Given the description of an element on the screen output the (x, y) to click on. 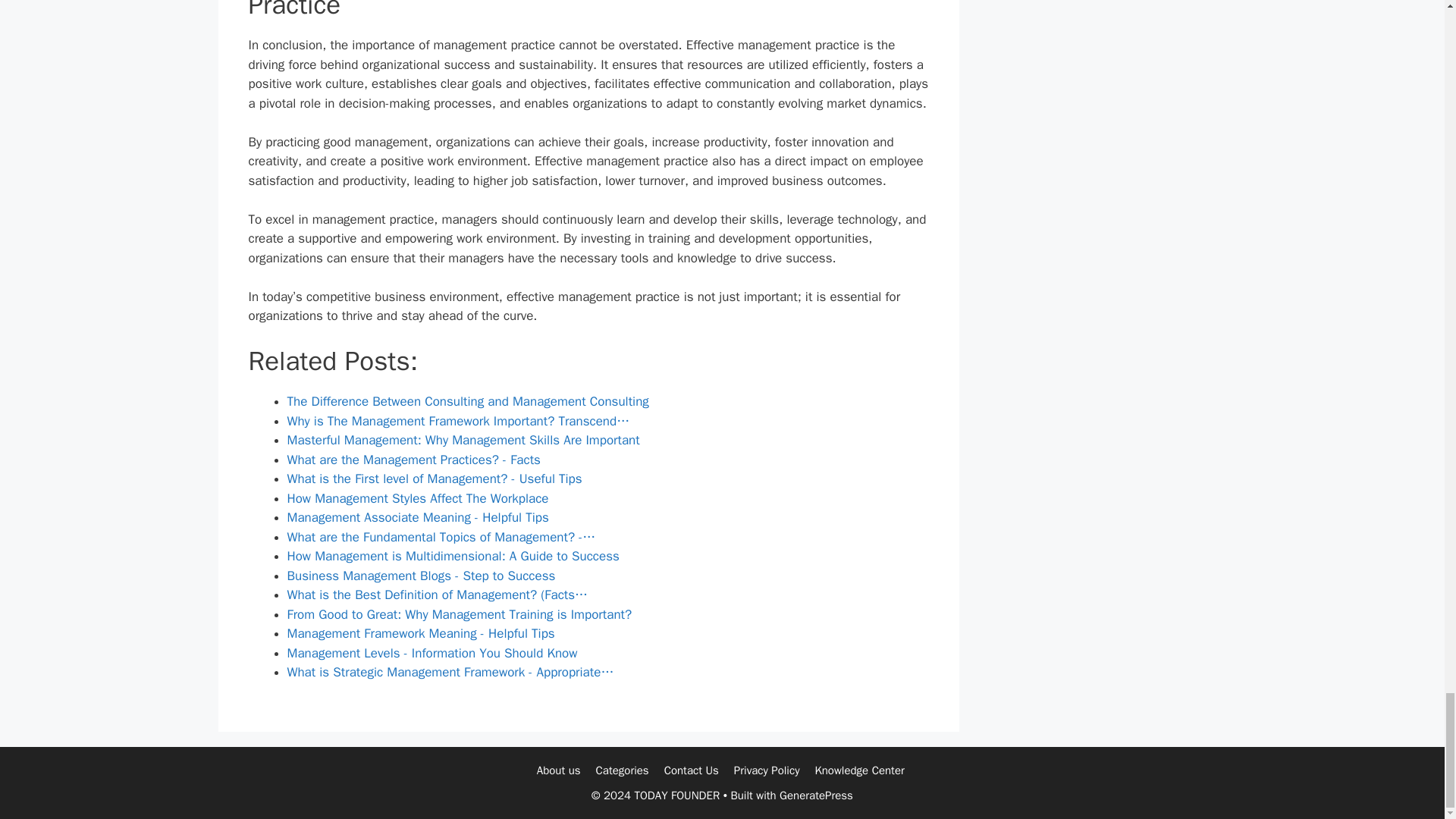
What are the Management Practices? - Facts (413, 459)
Business Management Blogs - Step to Success (420, 575)
Management Framework Meaning - Helpful Tips (420, 633)
From Good to Great: Why Management Training is Important? (458, 614)
How Management is Multidimensional: A Guide to Success (452, 555)
Management Levels - Information You Should Know (431, 652)
What is the First level of Management? - Useful Tips (433, 478)
The Difference Between Consulting and Management Consulting (466, 401)
Management Associate Meaning - Helpful Tips (417, 517)
Masterful Management: Why Management Skills Are Important (462, 439)
How Management Styles Affect The Workplace (417, 498)
